Given the description of an element on the screen output the (x, y) to click on. 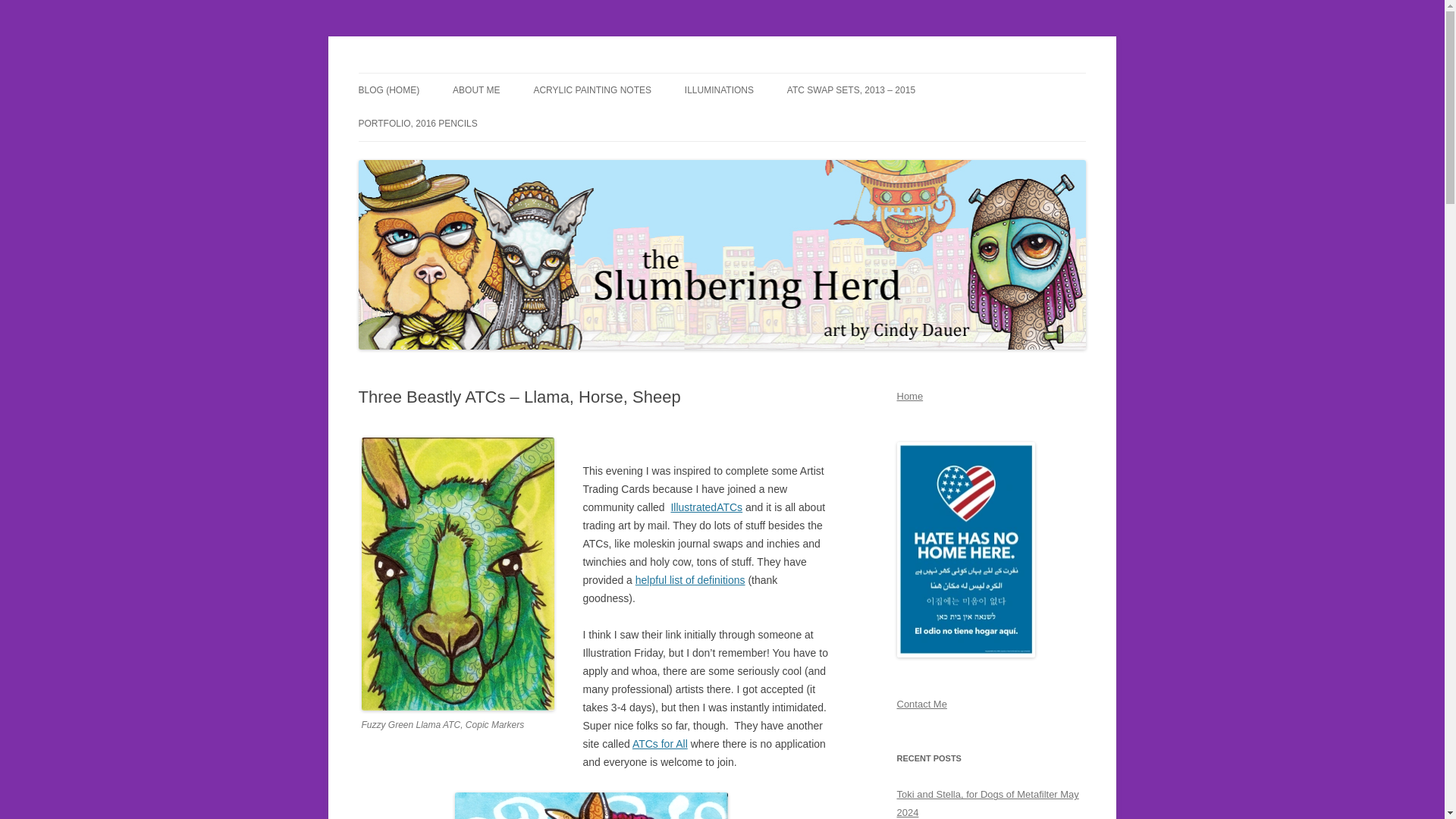
IllustratedATCs (705, 507)
Horse with Blue Swirl Sky July 2012 (591, 805)
PORTFOLIO, 2016 PENCILS (417, 123)
ACRYLIC PAINTING NOTES (591, 90)
ILLUMINATIONS (719, 90)
ABOUT ME (475, 90)
helpful list of definitions (689, 580)
The Slumbering Herd Art Blog (499, 72)
ATCs for All (659, 743)
